Given the description of an element on the screen output the (x, y) to click on. 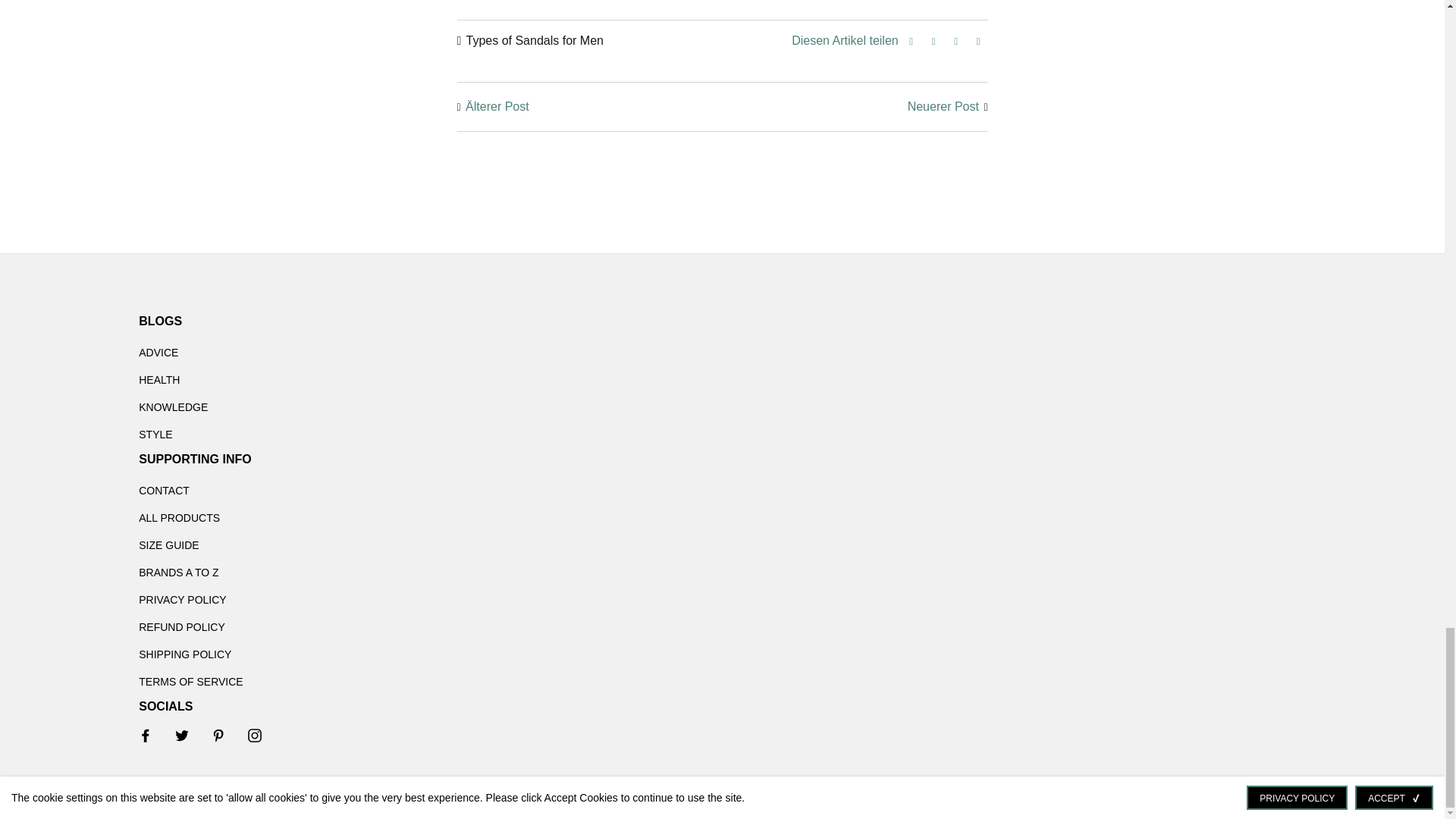
Apple Pay (809, 799)
Mastercard (948, 799)
Google Pay (893, 799)
Union Pay (1033, 799)
Shop Pay (1005, 799)
Diners Club (836, 799)
American Express (781, 799)
PayPal (977, 799)
Maestro (921, 799)
Discover (864, 799)
Visa (1061, 799)
